Given the description of an element on the screen output the (x, y) to click on. 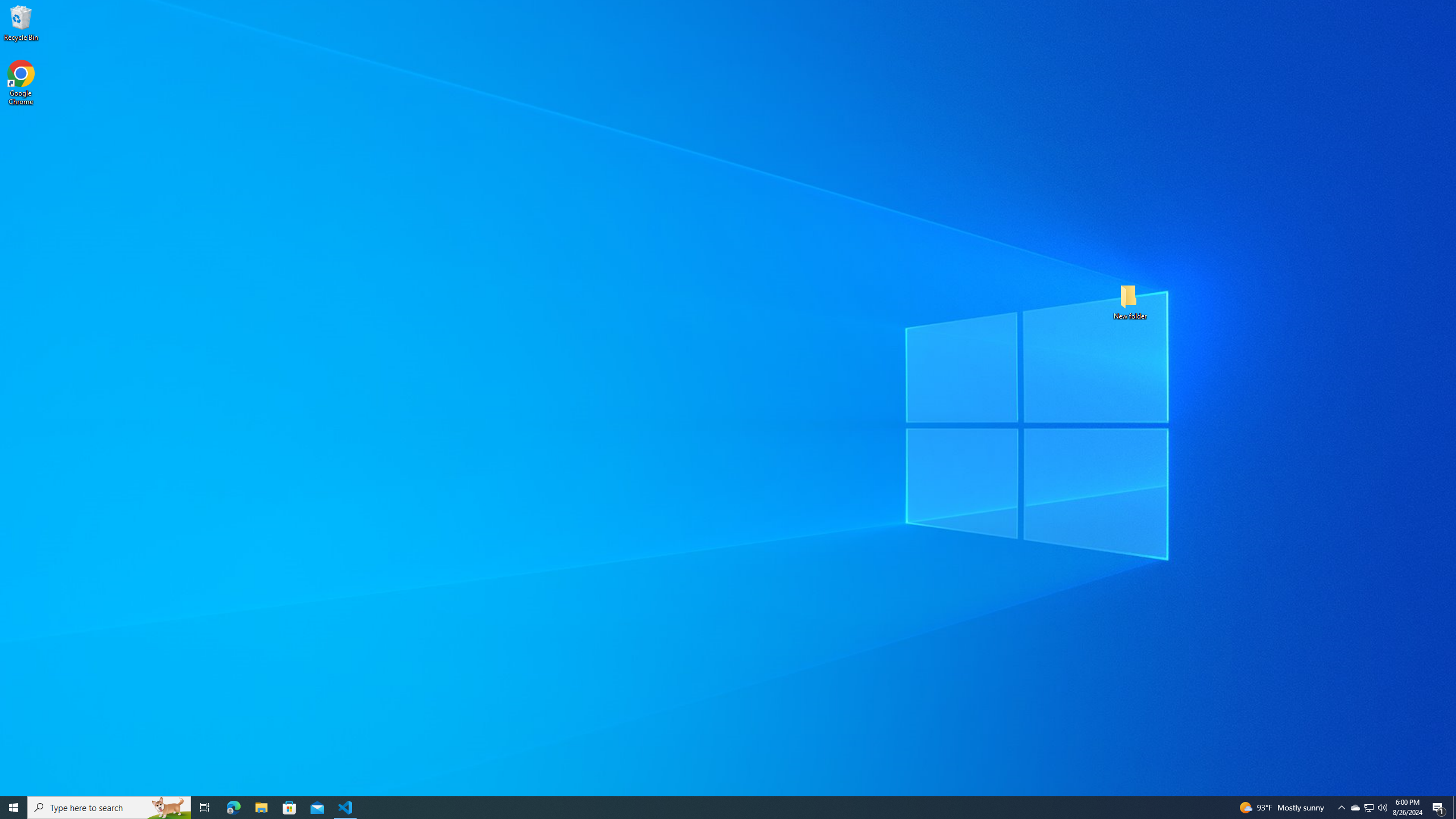
New folder (1130, 301)
Recycle Bin (21, 22)
Google Chrome (21, 82)
